Given the description of an element on the screen output the (x, y) to click on. 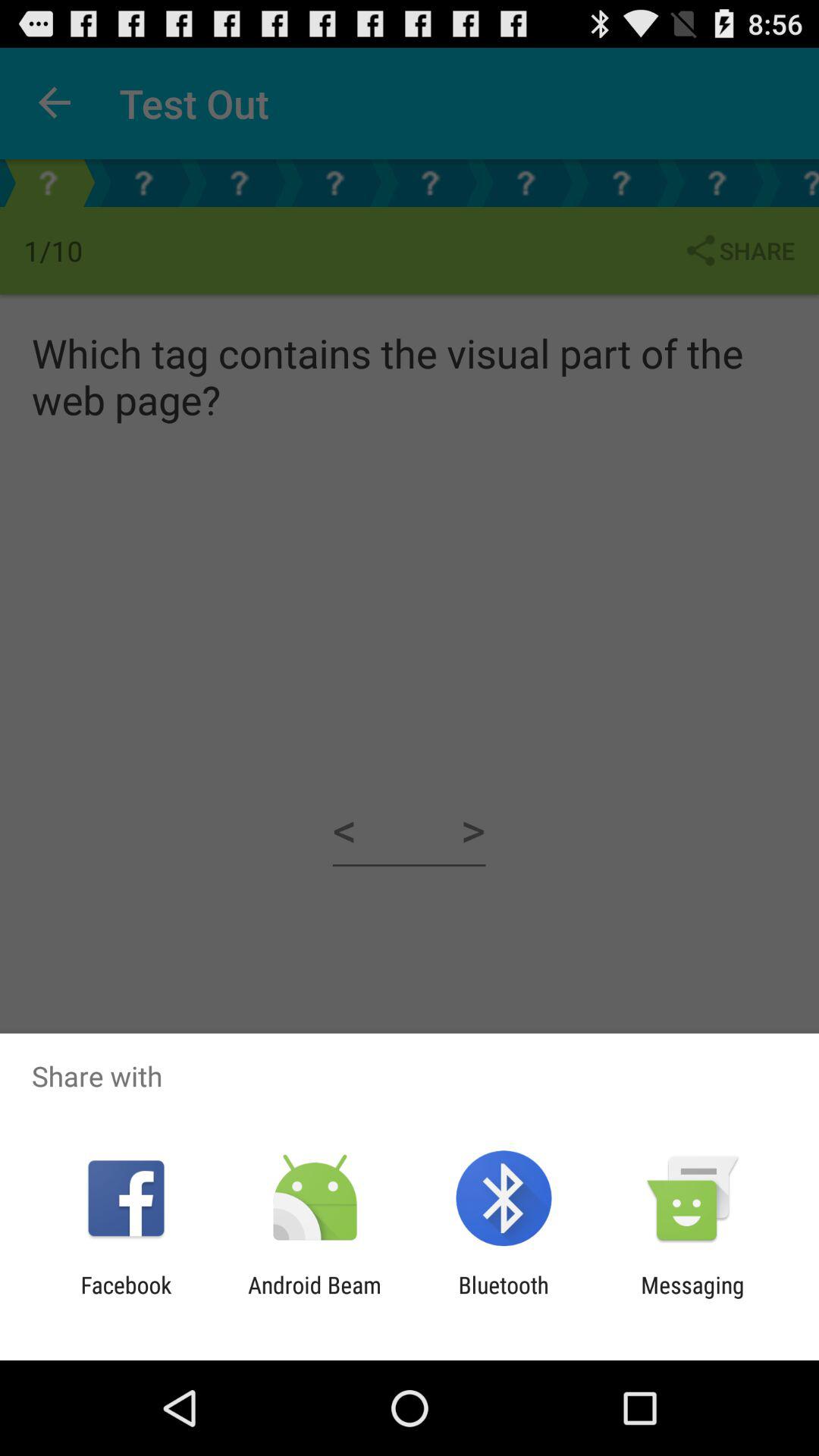
launch app to the right of the facebook icon (314, 1298)
